Given the description of an element on the screen output the (x, y) to click on. 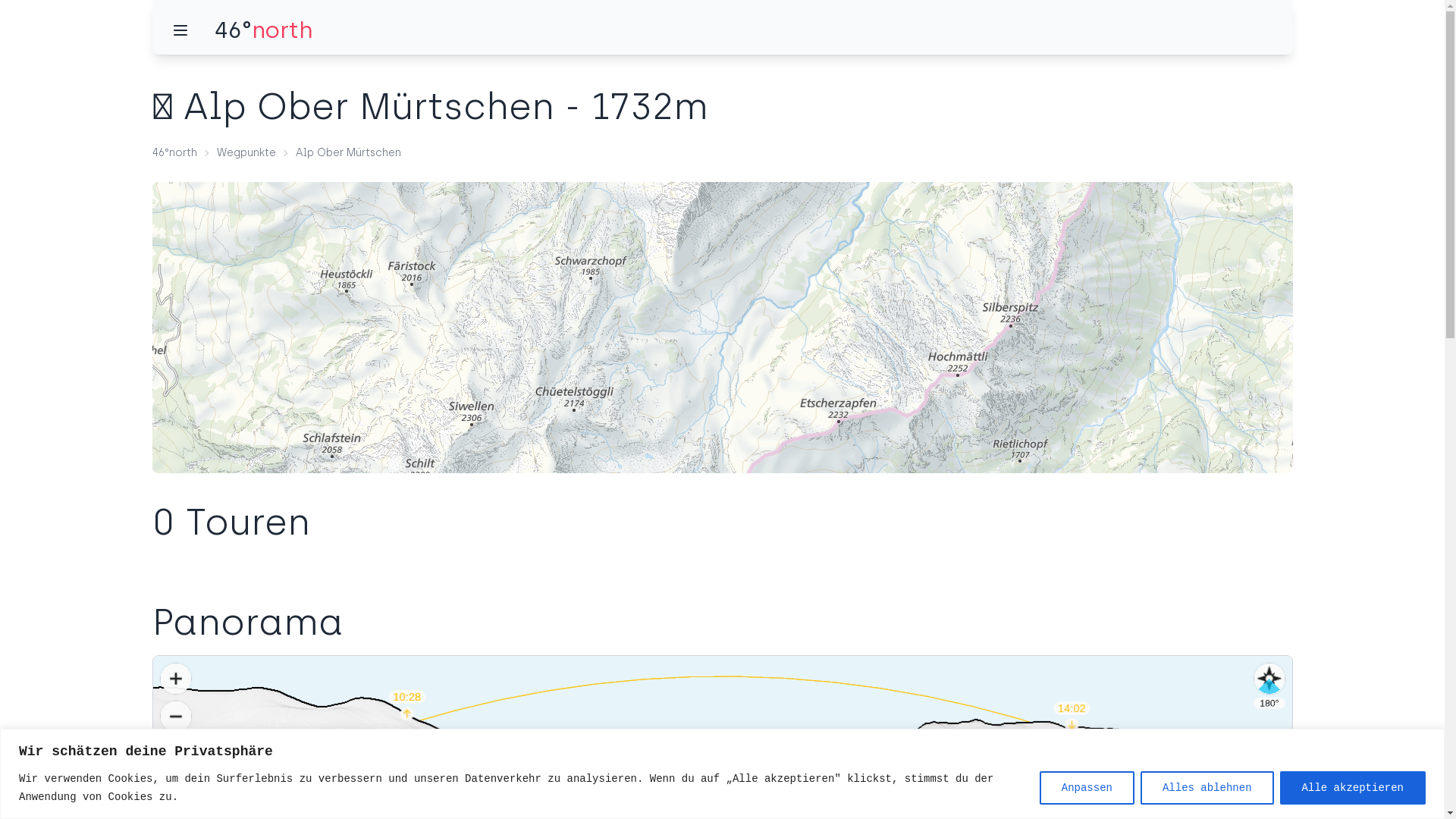
Alles ablehnen Element type: text (1207, 786)
Anpassen Element type: text (1086, 786)
Alle akzeptieren Element type: text (1352, 786)
Wegpunkte Element type: text (246, 152)
